Given the description of an element on the screen output the (x, y) to click on. 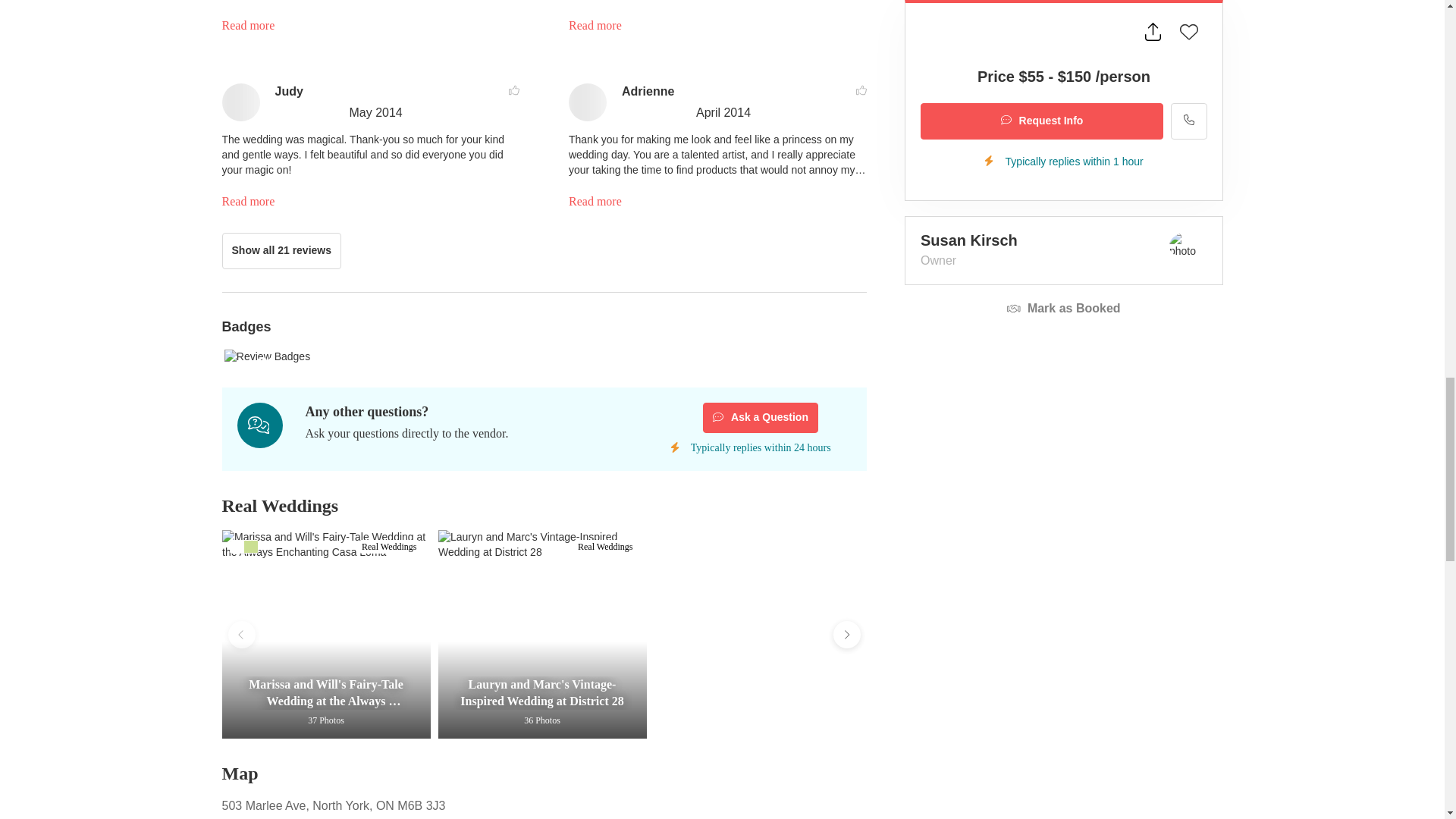
21 (543, 356)
21 (543, 356)
21 (267, 356)
